Given the description of an element on the screen output the (x, y) to click on. 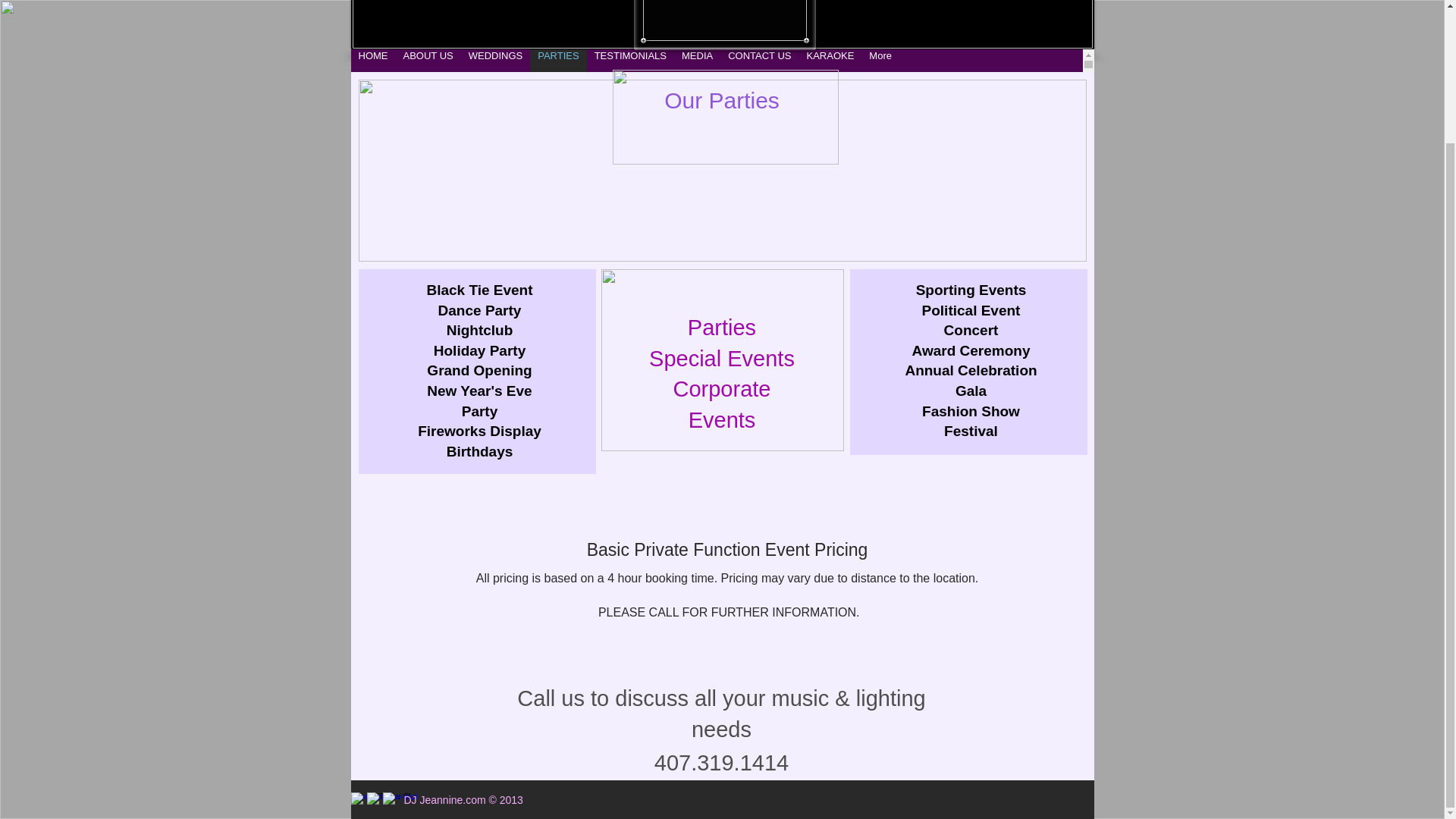
TESTIMONIALS (630, 60)
CONTACT US (758, 60)
HOME (372, 60)
ABOUT US (428, 60)
PARTIES (557, 60)
WEDDINGS (496, 60)
MEDIA (697, 60)
KARAOKE (830, 60)
